Given the description of an element on the screen output the (x, y) to click on. 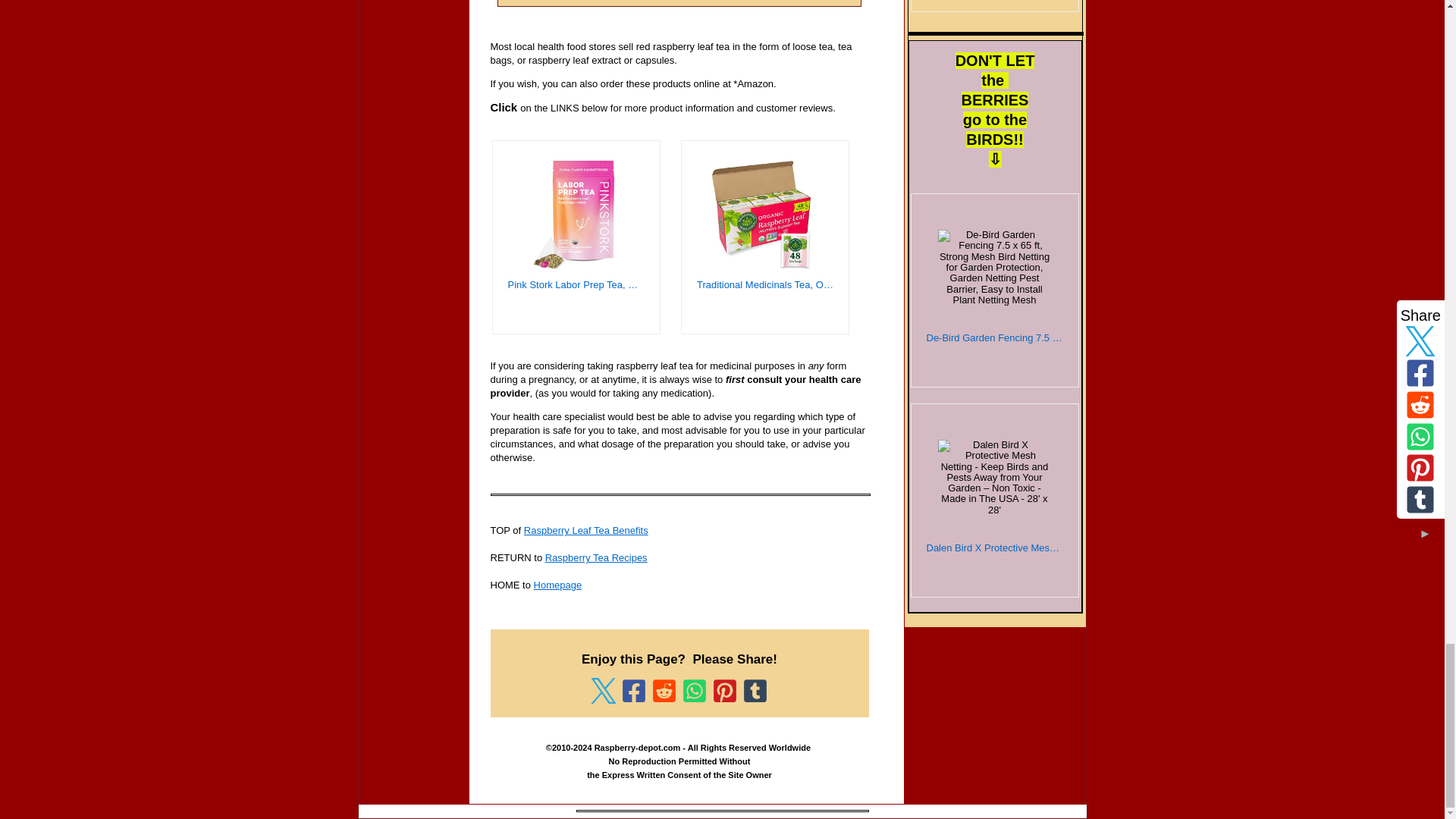
Raspberry Tea Recipes (595, 557)
Homepage (558, 584)
Raspberry Leaf Tea Benefits (585, 530)
